Given the description of an element on the screen output the (x, y) to click on. 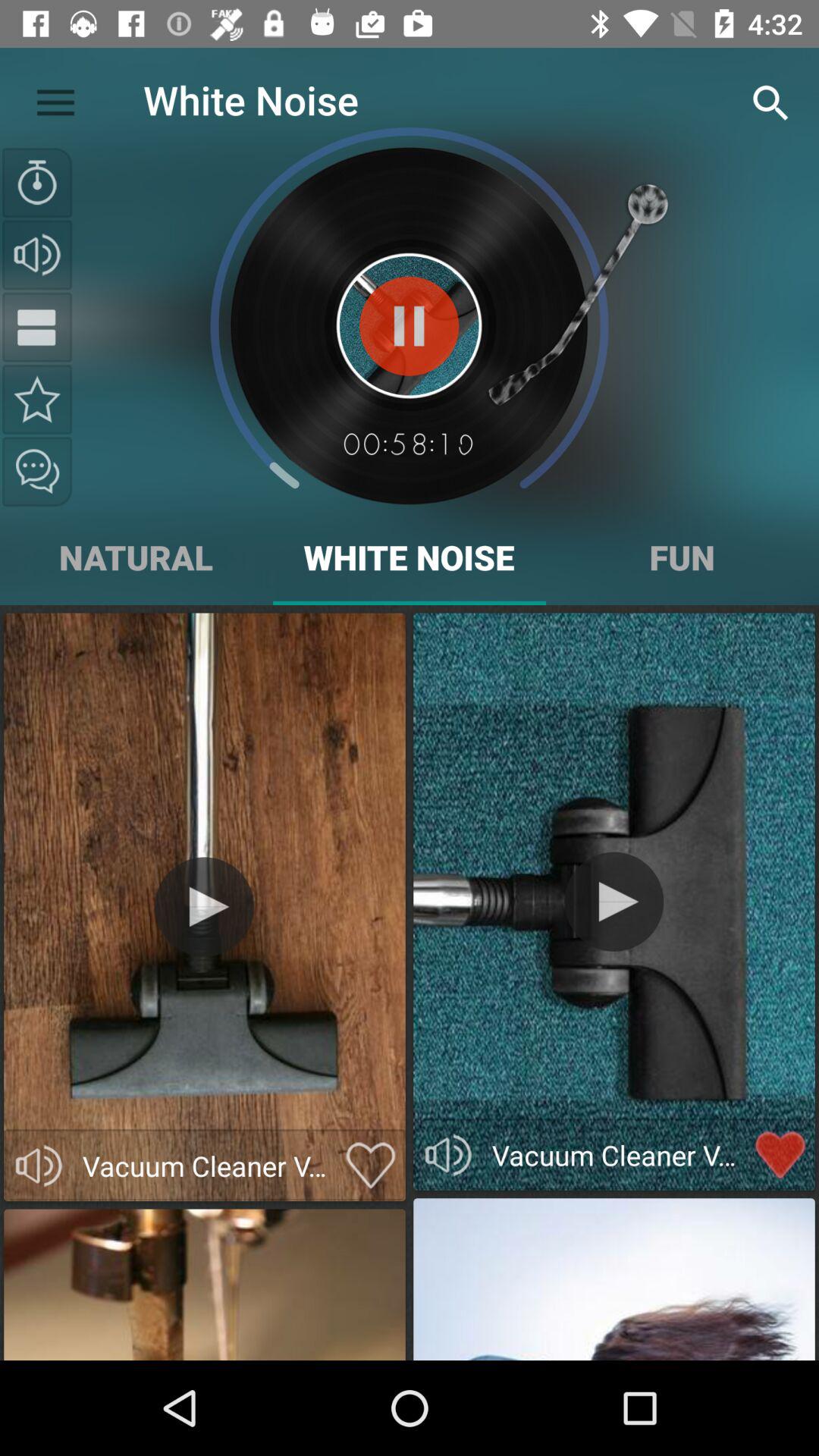
add to favorites (370, 1165)
